Given the description of an element on the screen output the (x, y) to click on. 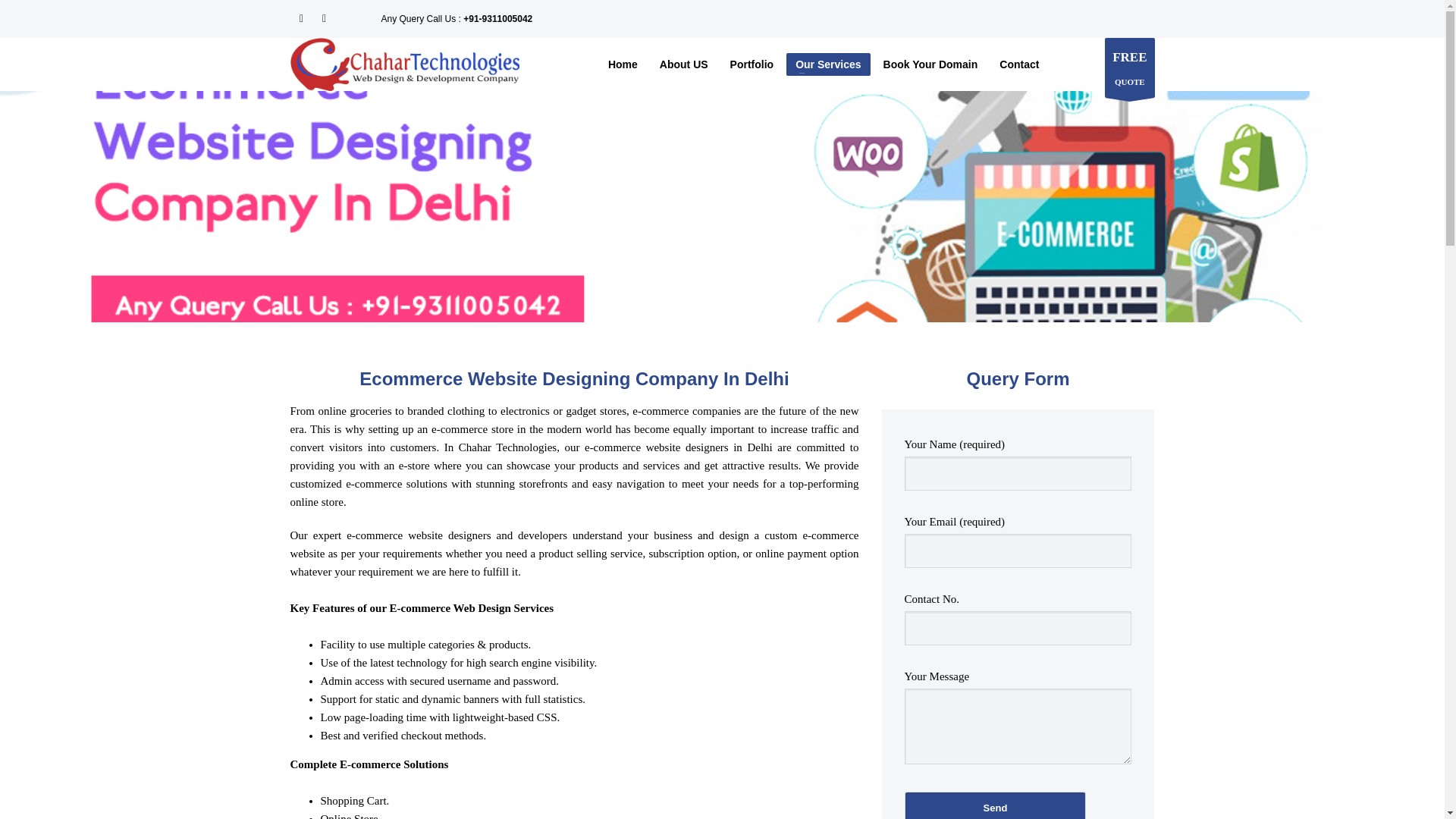
Contact (1019, 64)
Send (995, 805)
Facebook (301, 18)
Our Services (827, 64)
Book Your Domain (931, 64)
About US (683, 64)
Send (995, 805)
Home (622, 64)
Twitter (323, 18)
Web Design Company in Delhi (404, 63)
